Given the description of an element on the screen output the (x, y) to click on. 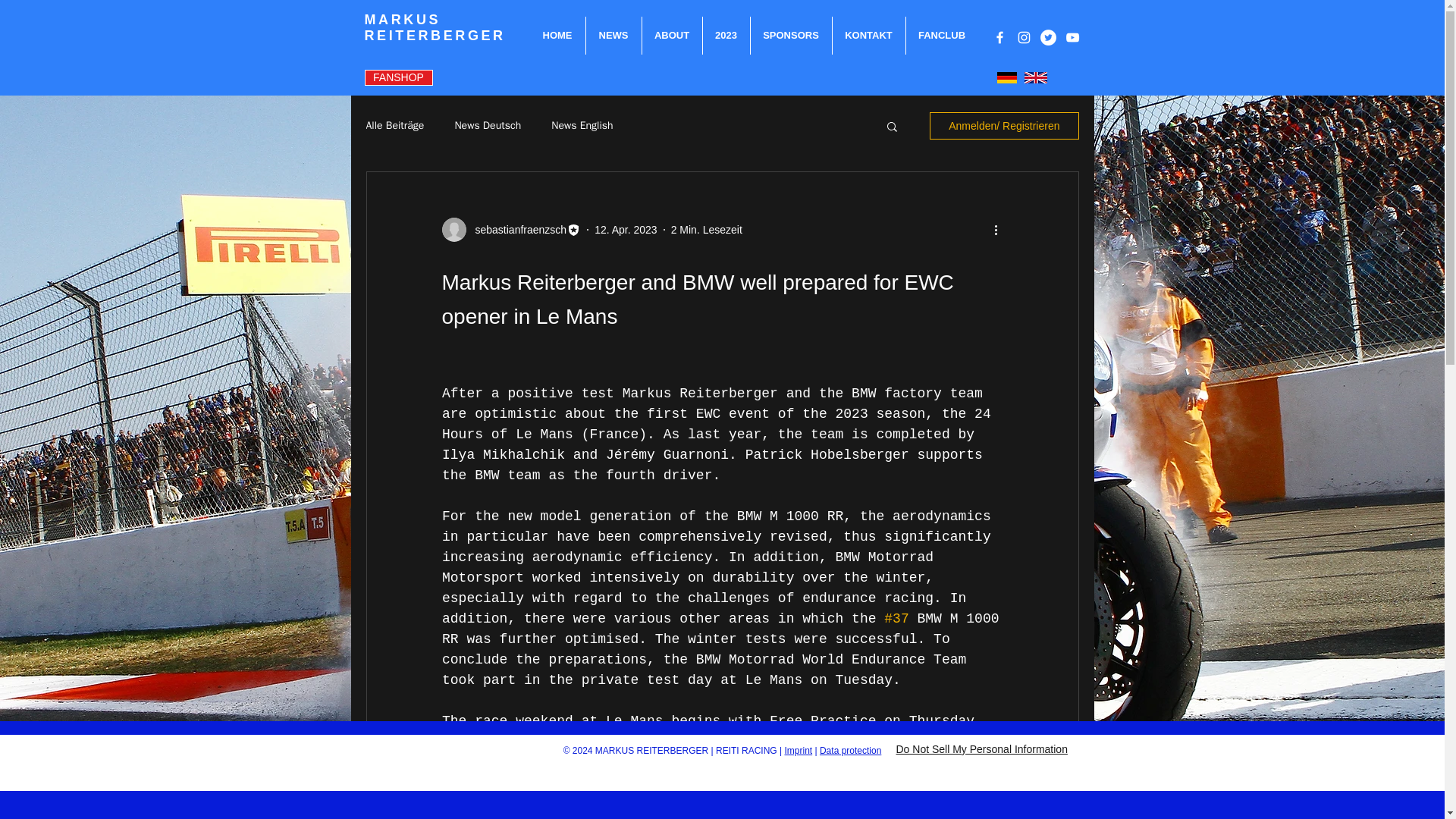
News English (581, 125)
2023 (725, 35)
sebastianfraenzsch (515, 229)
SPONSORS (791, 35)
ABOUT (671, 35)
FANSHOP (398, 77)
News Deutsch (487, 125)
NEWS (612, 35)
FANCLUB (940, 35)
HOME (557, 35)
KONTAKT (868, 35)
MARKUS REITERBERGER (434, 27)
2 Min. Lesezeit (706, 228)
12. Apr. 2023 (626, 228)
